Given the description of an element on the screen output the (x, y) to click on. 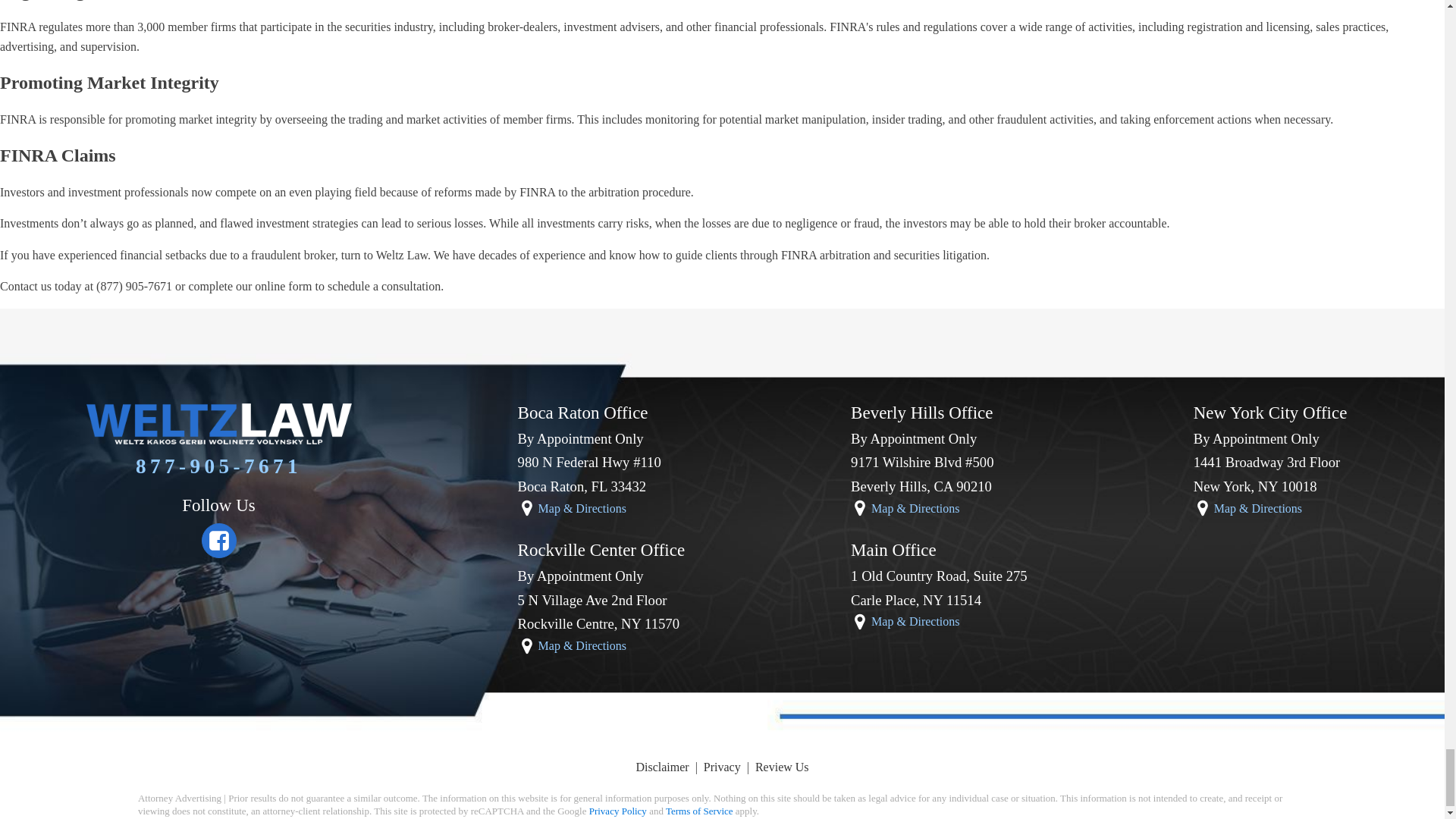
877-905-7671 (218, 466)
